Given the description of an element on the screen output the (x, y) to click on. 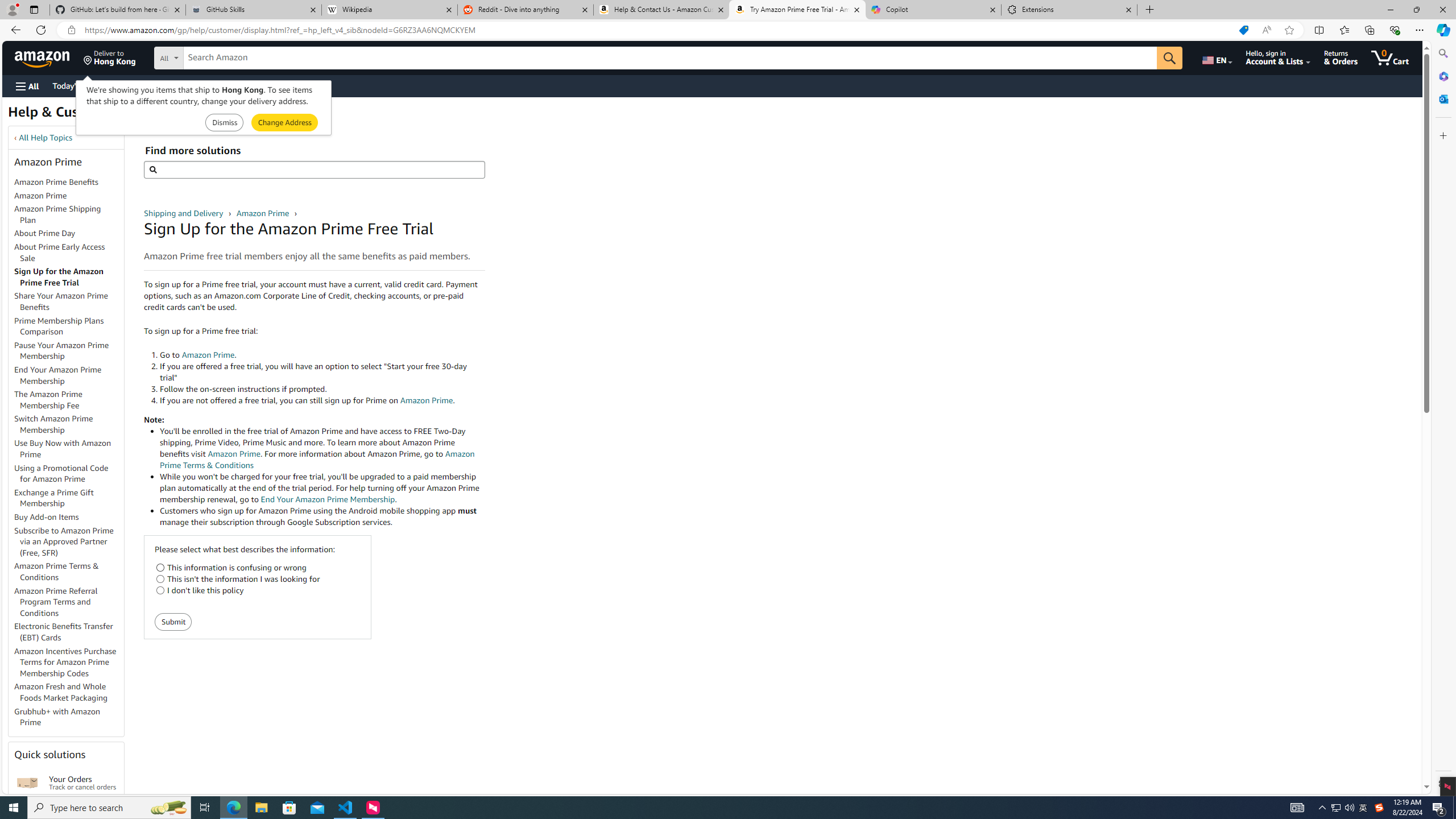
Buy Add-on Items (68, 517)
Amazon Fresh and Whole Foods Market Packaging (68, 692)
Pause Your Amazon Prime Membership (68, 350)
Amazon Prime Terms & Conditions (56, 571)
Grubhub+ with Amazon Prime (57, 716)
This information is confusing or wrong (159, 567)
Follow the on-screen instructions if prompted. (322, 389)
Shipping and Delivery  (184, 213)
Registry (205, 85)
